Given the description of an element on the screen output the (x, y) to click on. 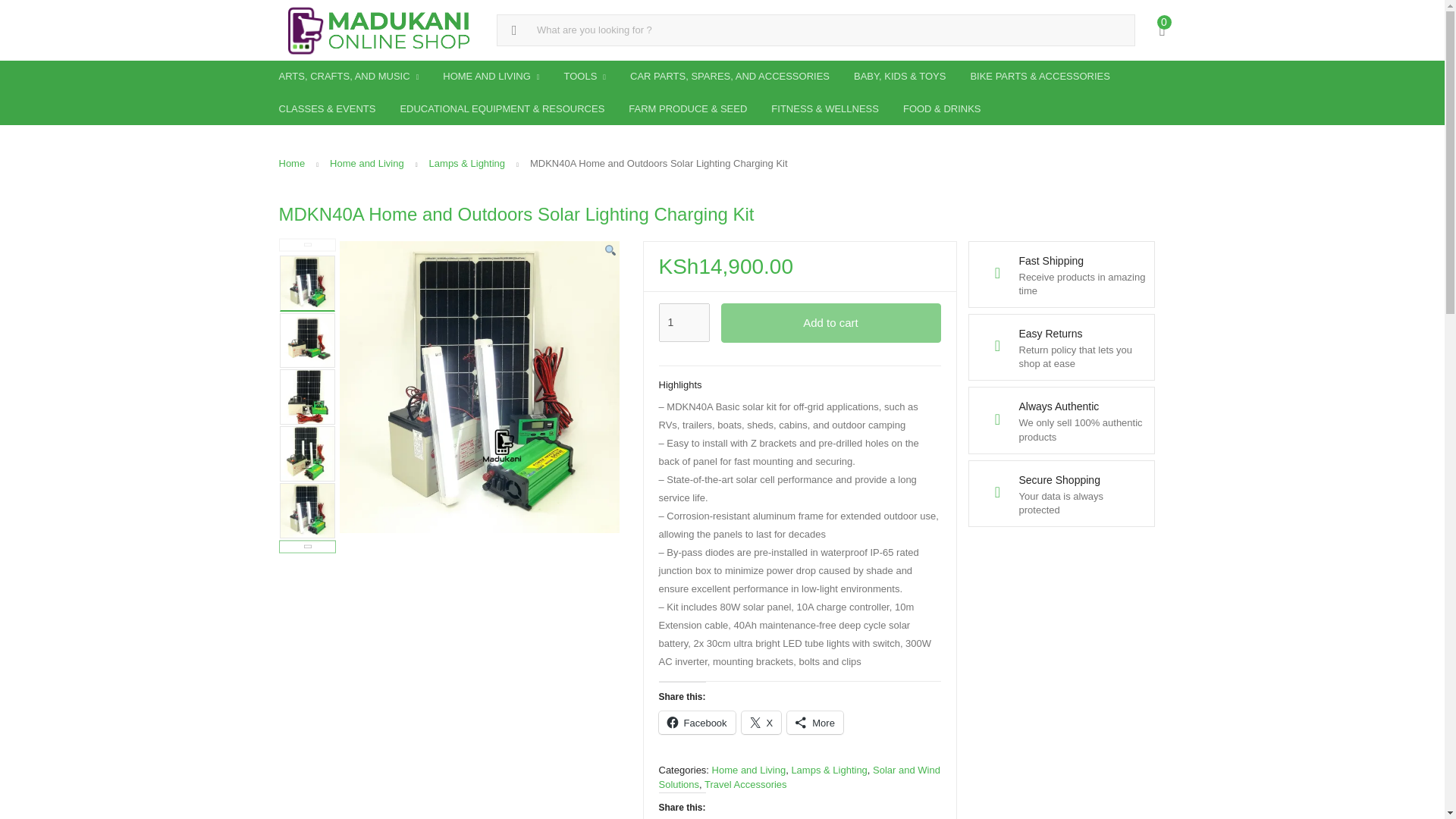
1 (683, 323)
Search (17, 12)
TOOLS (584, 76)
Click to share on Facebook (696, 722)
MDKN40A Home and Outdoors Solar Lighting Charging Kit (306, 397)
ARTS, CRAFTS, AND MUSIC (348, 76)
CAR PARTS, SPARES, AND ACCESSORIES (729, 76)
Click to share on X (761, 722)
HOME AND LIVING (490, 76)
